Given the description of an element on the screen output the (x, y) to click on. 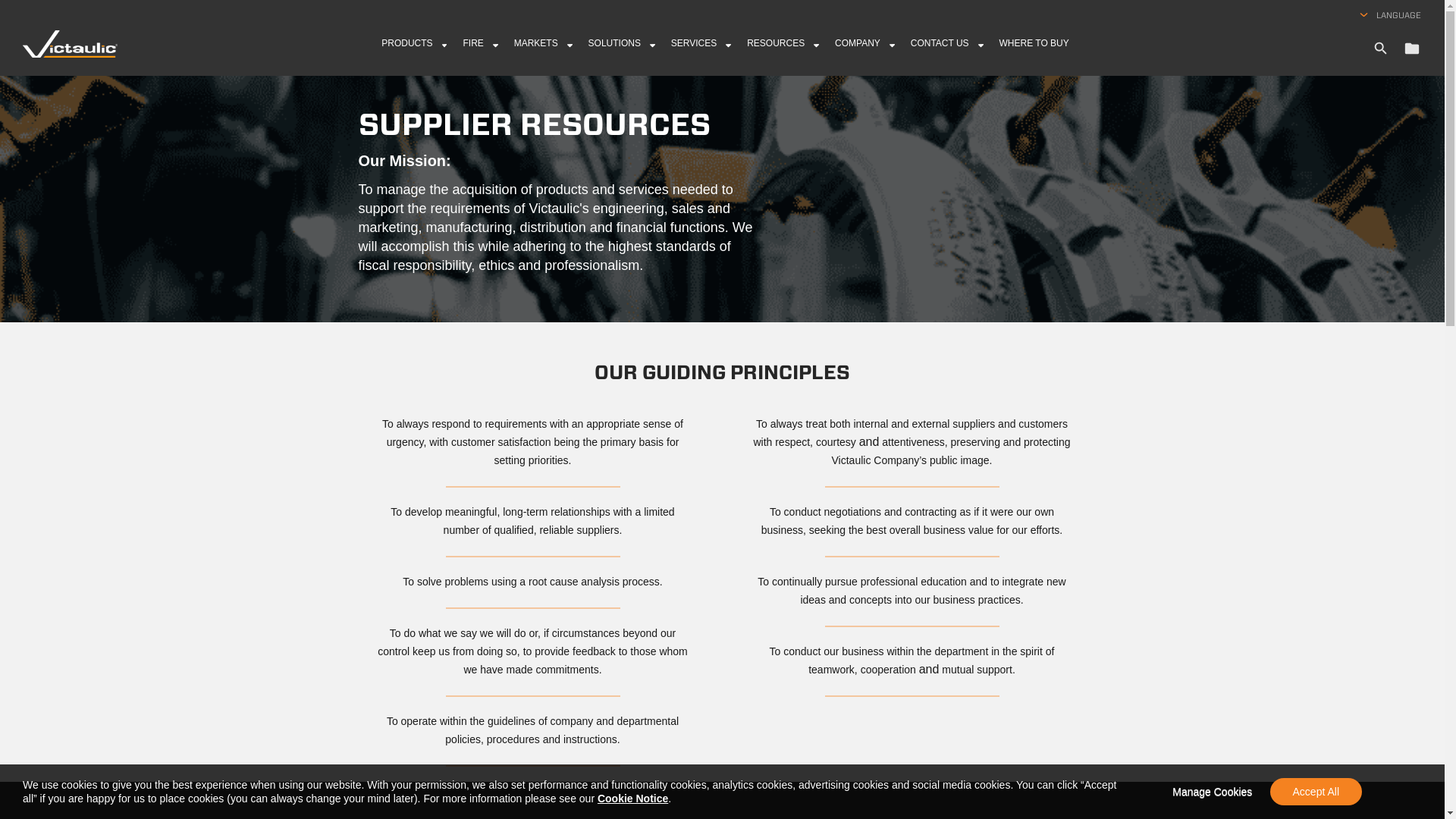
PRODUCTS (416, 53)
Search (1380, 48)
Add Resources to Package (1412, 48)
